Given the description of an element on the screen output the (x, y) to click on. 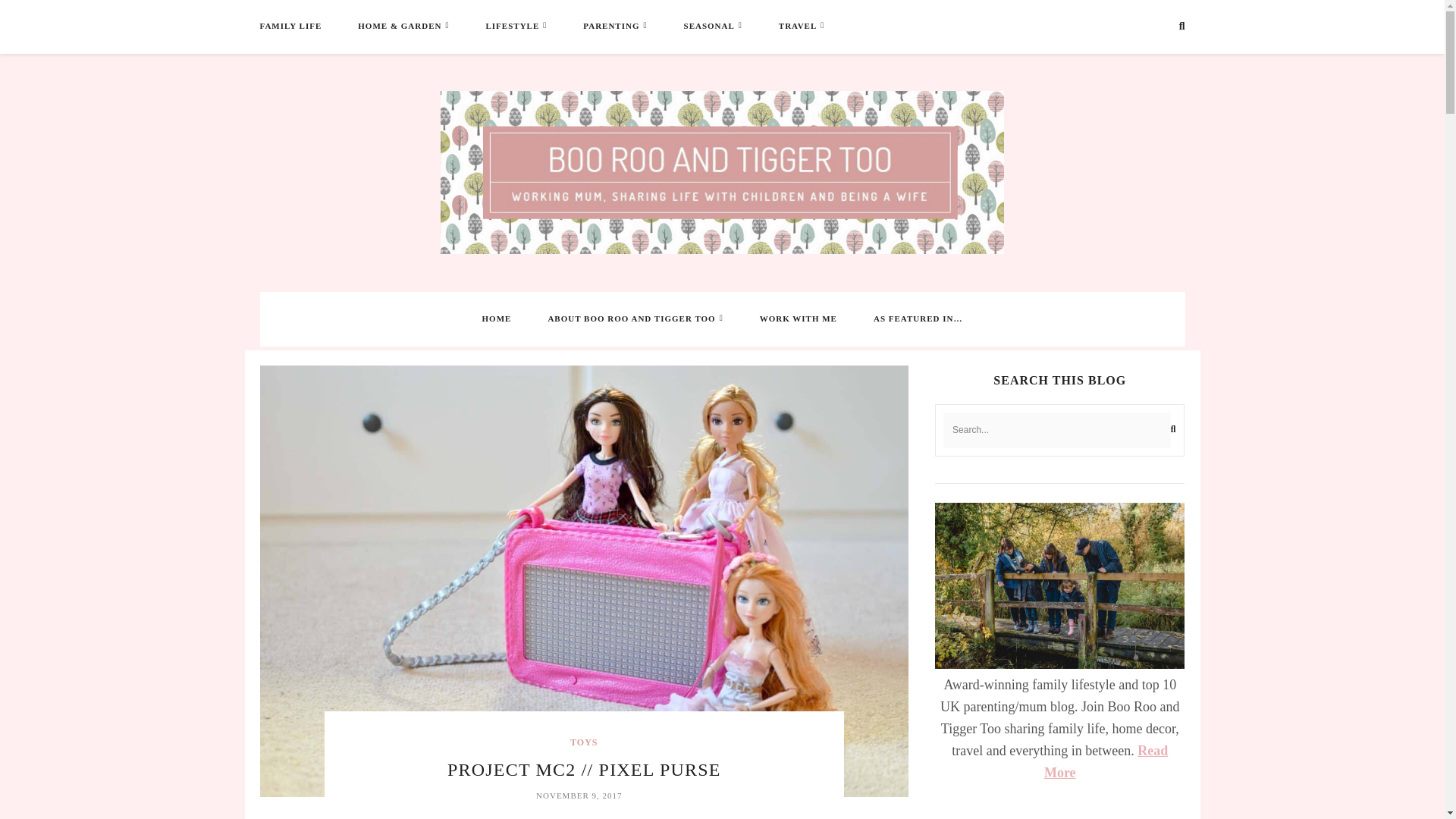
FAMILY LIFE (290, 25)
PARENTING (611, 25)
LIFESTYLE (511, 25)
SEASONAL (709, 25)
